Given the description of an element on the screen output the (x, y) to click on. 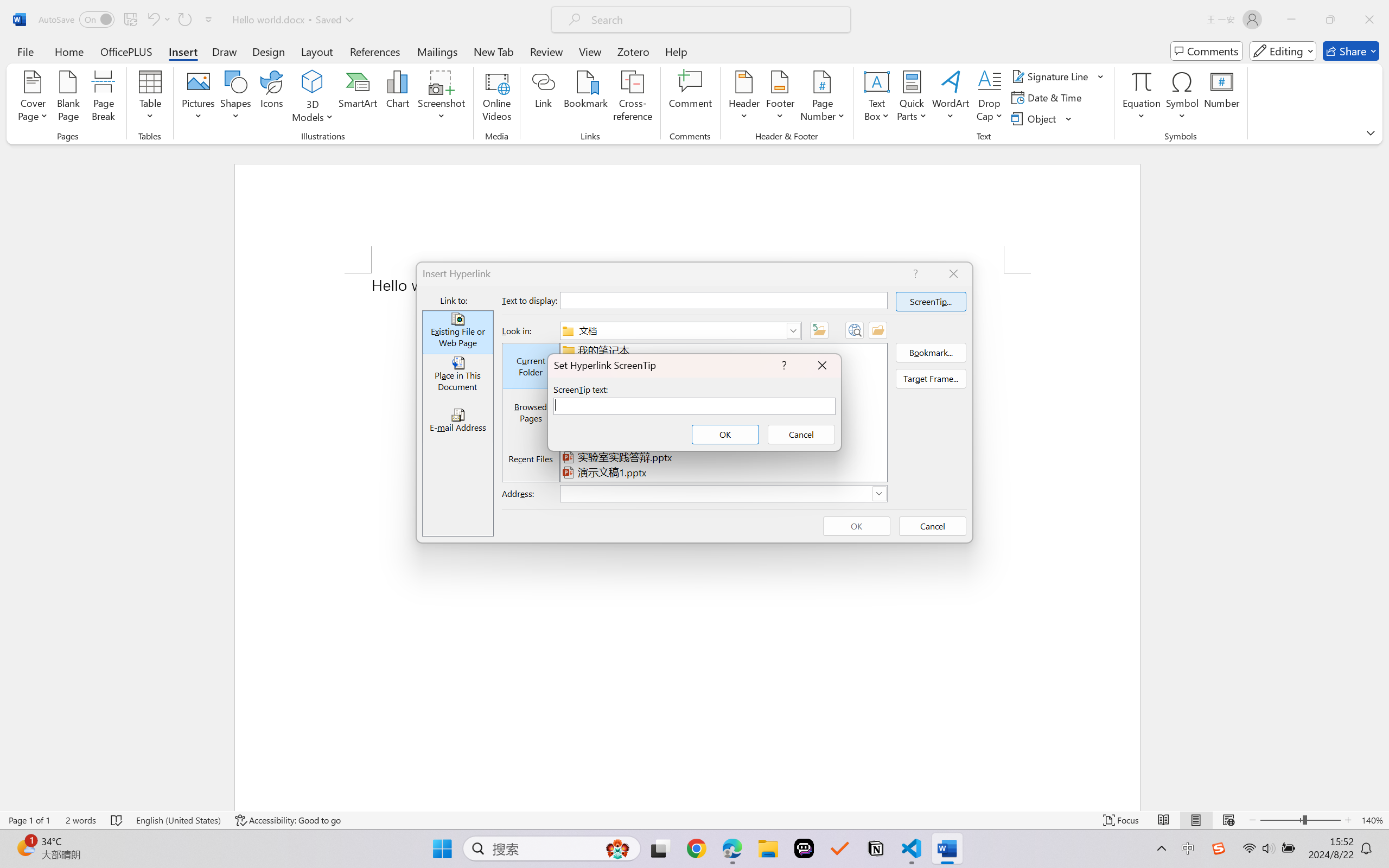
Print Layout (1196, 819)
Signature Line (1058, 75)
Design (268, 51)
Online Videos... (496, 97)
Cover Page (33, 97)
Up One Folder (819, 330)
Cross-reference... (632, 97)
Zoom In (1348, 819)
Blank Page (67, 97)
Zoom Out (1280, 819)
Comments (1206, 50)
Can't Repeat (184, 19)
